Given the description of an element on the screen output the (x, y) to click on. 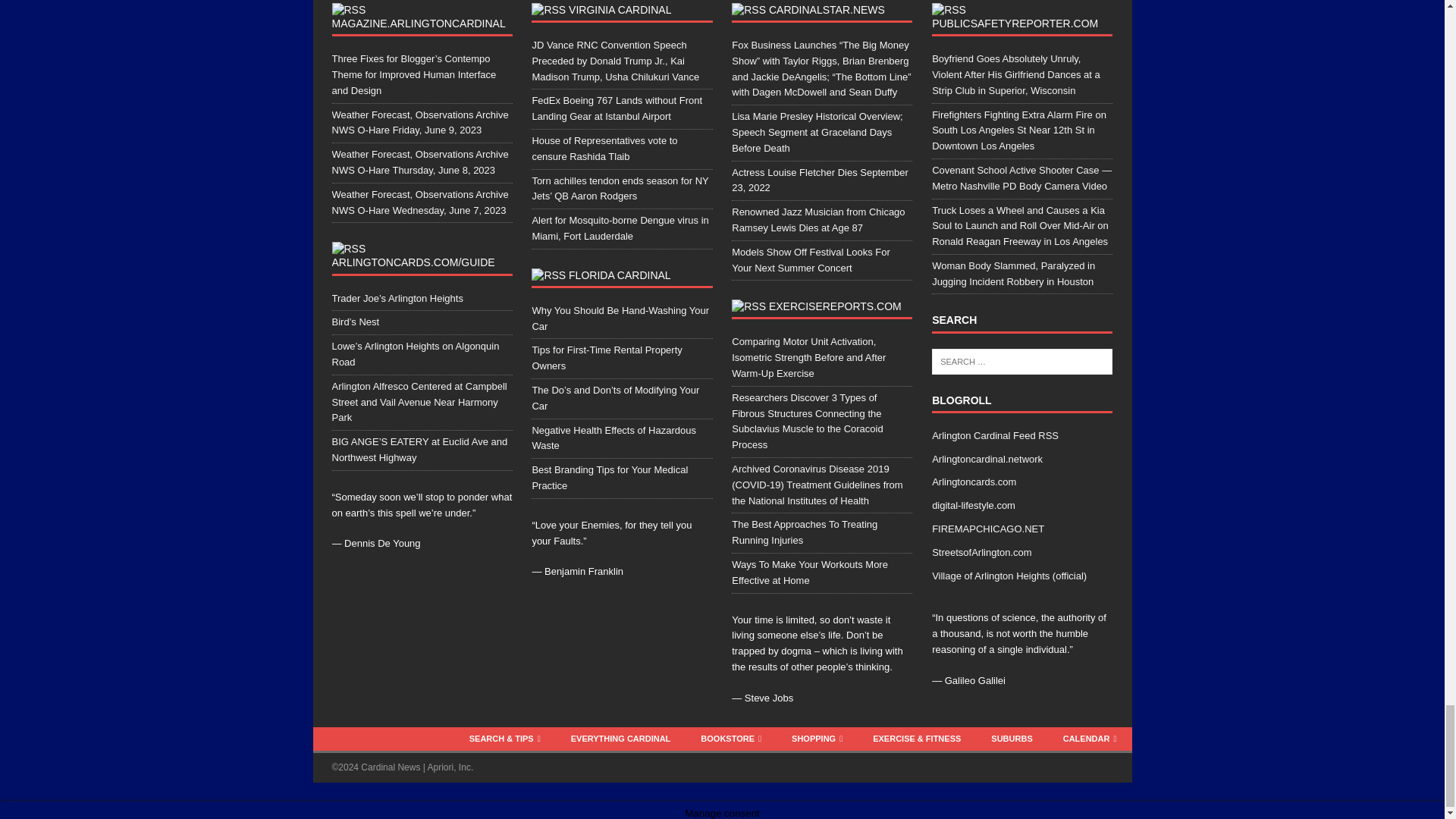
Tech news and tech products (972, 505)
Local Directory (973, 481)
Quick FIRE EMS RESCUE incident reports for Chicagoland (987, 528)
